Given the description of an element on the screen output the (x, y) to click on. 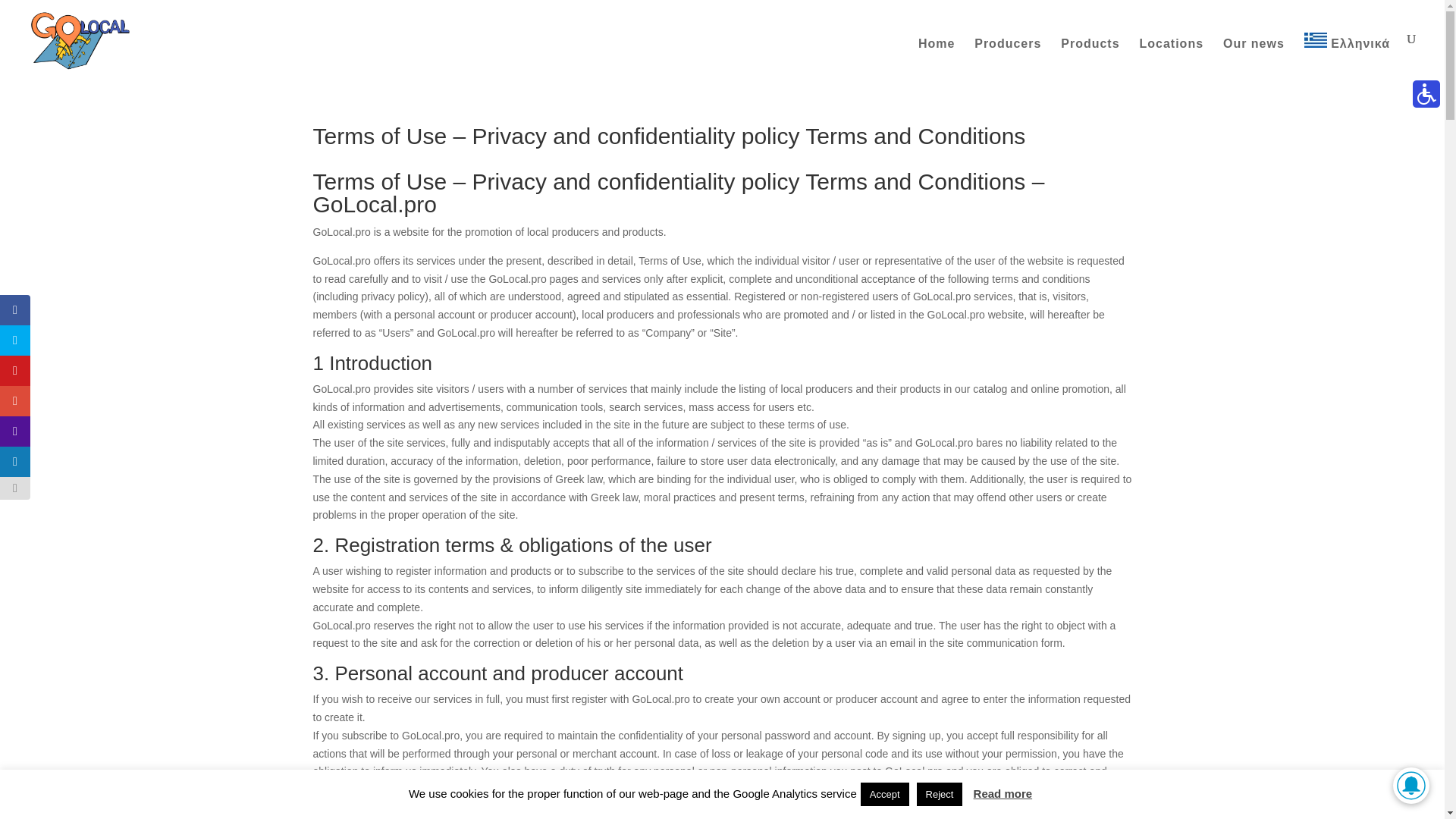
Locations (1171, 59)
Products (1090, 59)
Read more (1003, 793)
Our news (1253, 59)
Accept (884, 793)
Reject (939, 793)
Producers (1007, 59)
